Given the description of an element on the screen output the (x, y) to click on. 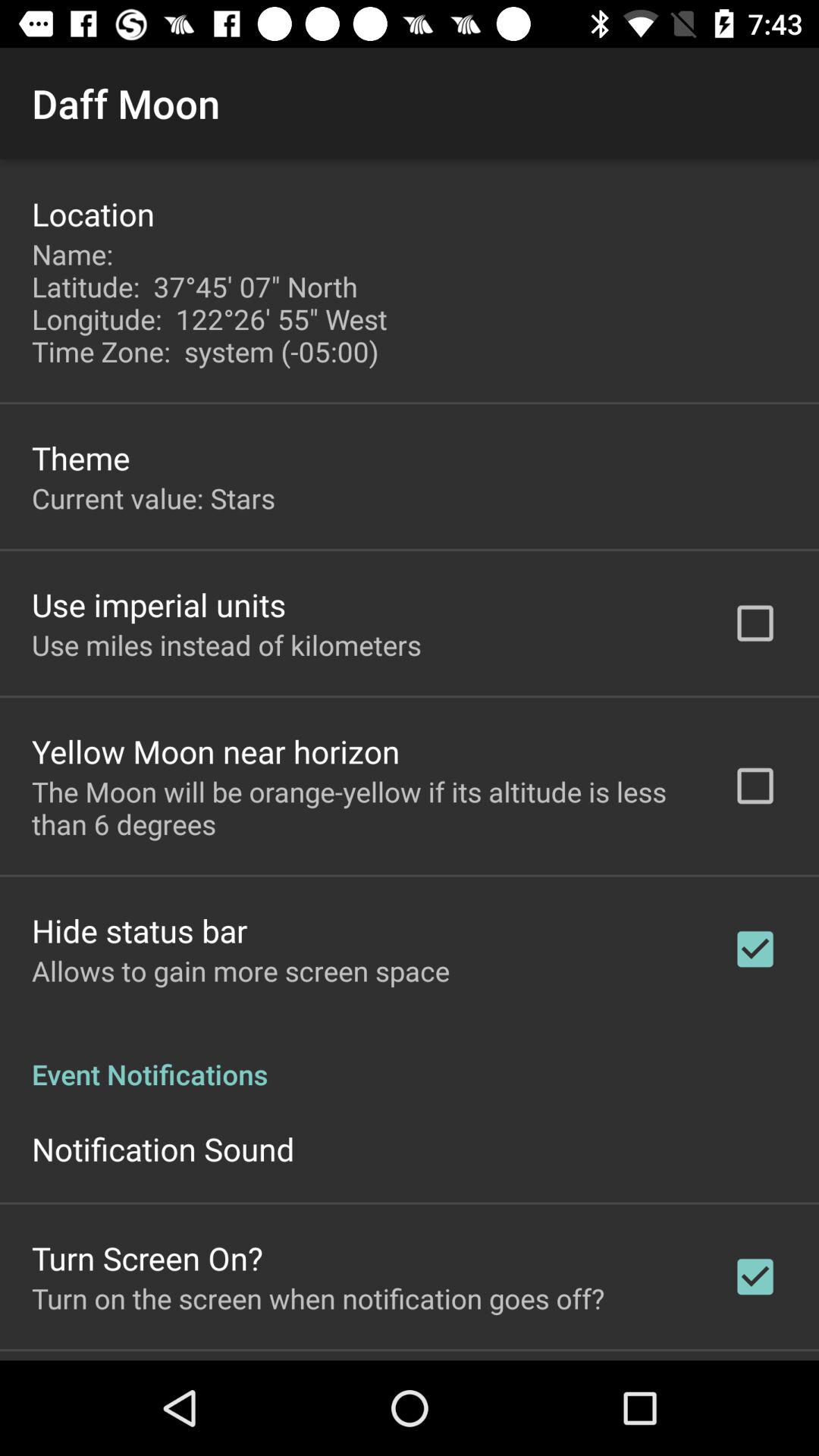
tap use miles instead item (226, 644)
